Given the description of an element on the screen output the (x, y) to click on. 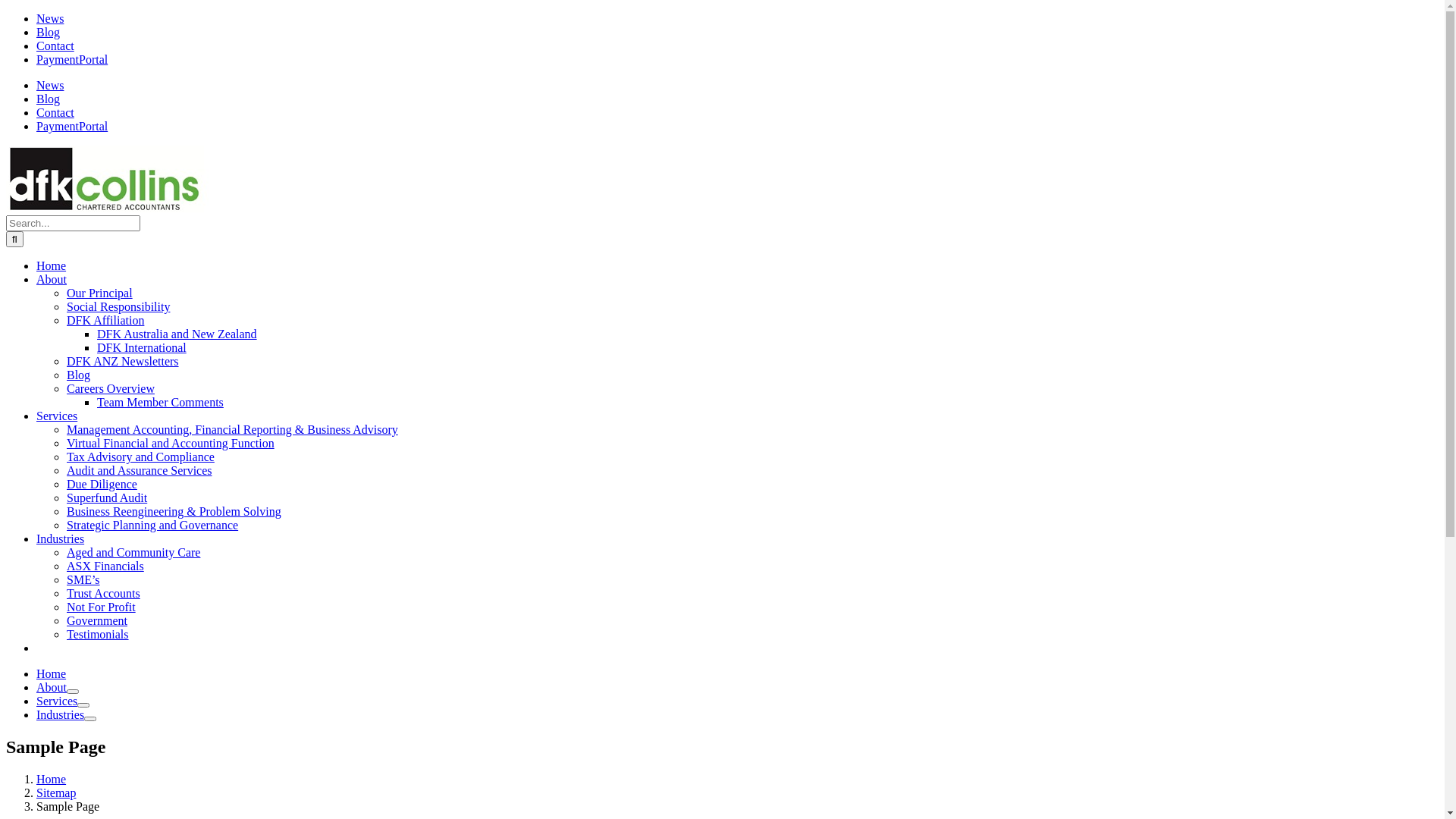
PaymentPortal Element type: text (71, 125)
Industries Element type: text (60, 538)
Audit and Assurance Services Element type: text (139, 470)
Team Member Comments Element type: text (160, 401)
DFK Australia and New Zealand Element type: text (177, 333)
DFK ANZ Newsletters Element type: text (122, 360)
Tax Advisory and Compliance Element type: text (140, 456)
Services Element type: text (56, 700)
DFK International Element type: text (141, 347)
Superfund Audit Element type: text (106, 497)
Contact Element type: text (55, 45)
DFK Affiliation Element type: text (105, 319)
Business Reengineering & Problem Solving Element type: text (173, 511)
Aged and Community Care Element type: text (133, 552)
Blog Element type: text (47, 98)
Home Element type: text (50, 673)
News Element type: text (49, 84)
ASX Financials Element type: text (105, 565)
Home Element type: text (50, 265)
Blog Element type: text (78, 374)
About Element type: text (51, 686)
Skip to content Element type: text (5, 11)
Testimonials Element type: text (97, 633)
News Element type: text (49, 18)
Contact Element type: text (55, 112)
Sitemap Element type: text (55, 792)
Careers Overview Element type: text (110, 388)
Strategic Planning and Governance Element type: text (152, 524)
Home Element type: text (50, 778)
Services Element type: text (56, 415)
Virtual Financial and Accounting Function Element type: text (170, 442)
About Element type: text (51, 279)
Our Principal Element type: text (99, 292)
Not For Profit Element type: text (100, 606)
Blog Element type: text (47, 31)
Trust Accounts Element type: text (103, 592)
Social Responsibility Element type: text (117, 306)
Industries Element type: text (60, 714)
PaymentPortal Element type: text (71, 59)
Due Diligence Element type: text (101, 483)
Government Element type: text (96, 620)
